Given the description of an element on the screen output the (x, y) to click on. 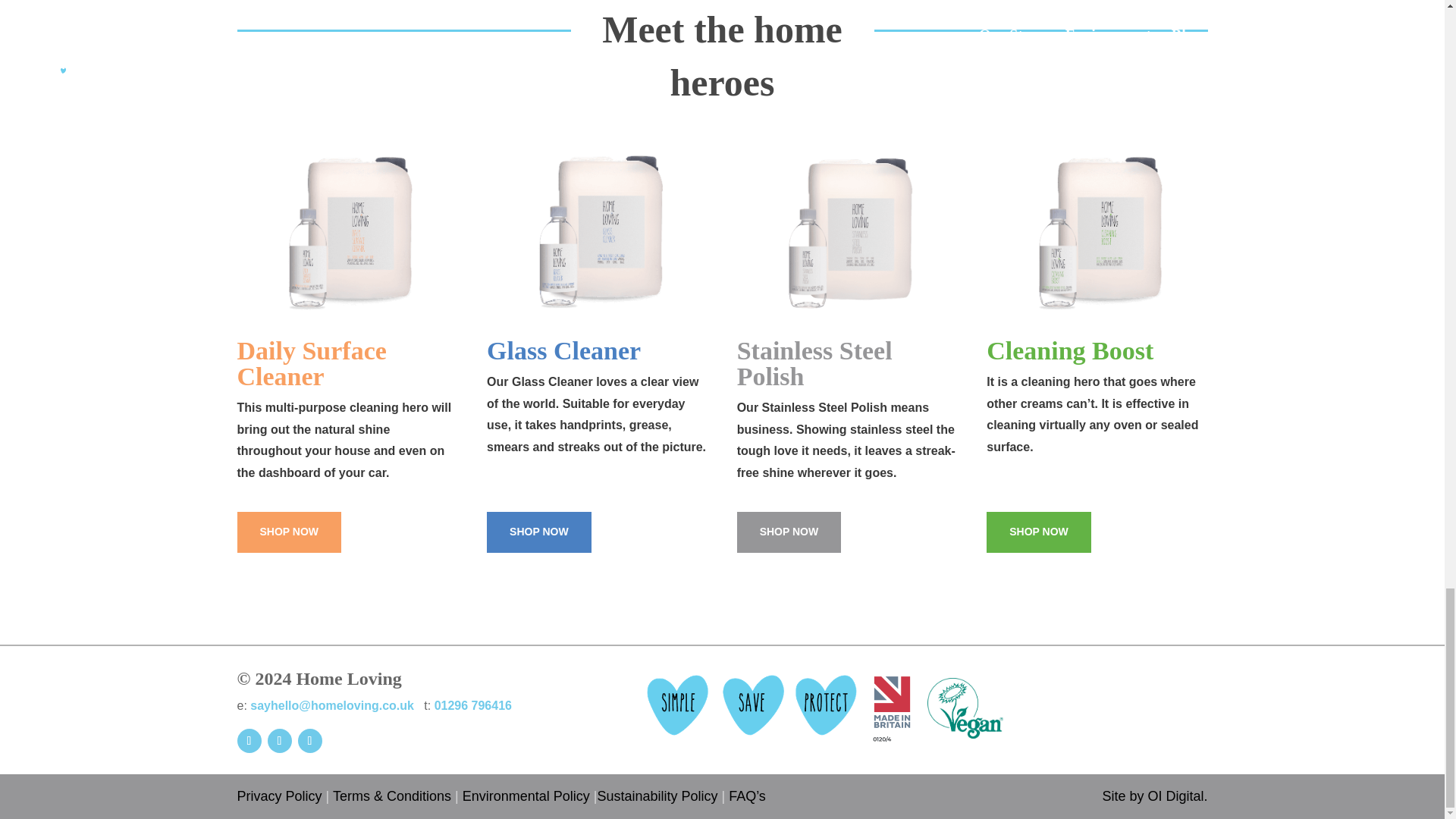
Follow on Facebook (247, 740)
SHOP NOW (287, 531)
SHOP NOW (538, 531)
Follow on Instagram (278, 740)
Follow on Twitter (309, 740)
SHOP NOW (788, 531)
Simple Save Protect (751, 704)
VeganTM-Palette1-VEGAN-GREEN (965, 708)
